Given the description of an element on the screen output the (x, y) to click on. 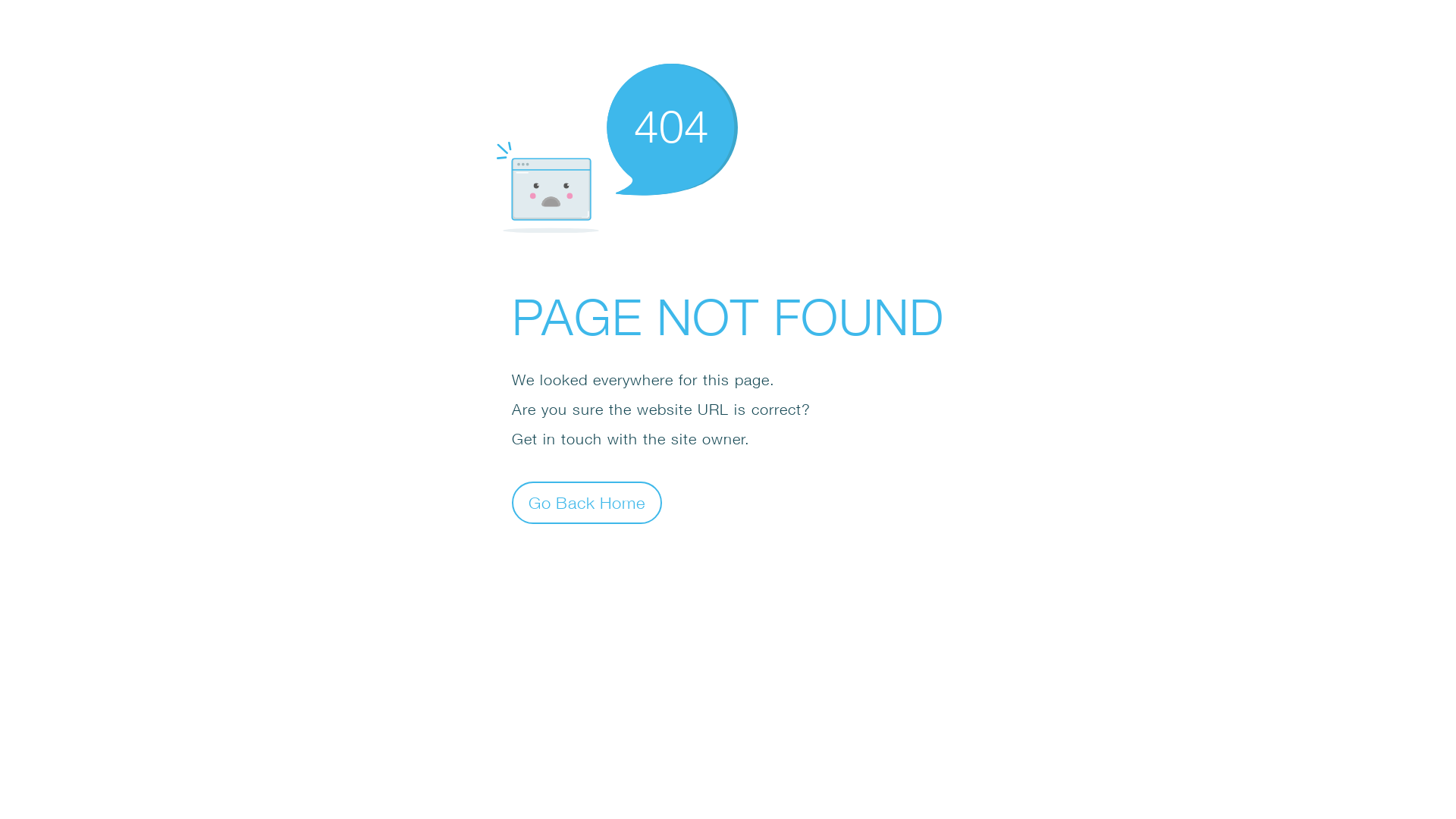
Go Back Home Element type: text (586, 502)
